Given the description of an element on the screen output the (x, y) to click on. 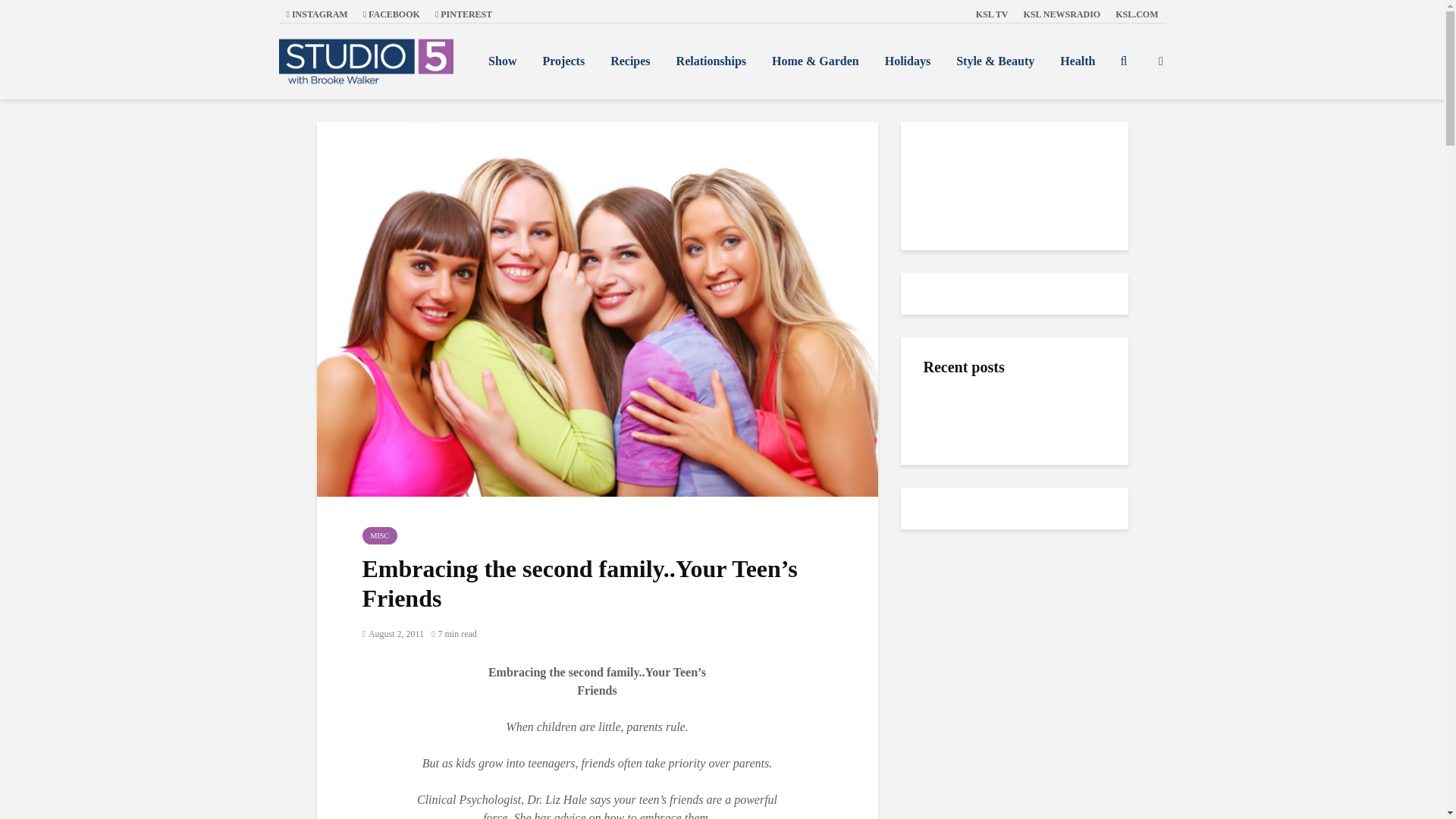
Recipes (629, 60)
MISC (379, 535)
KSL TV (992, 14)
Projects (563, 60)
PINTEREST (463, 14)
Relationships (711, 60)
Health (1077, 60)
Show (502, 60)
Holidays (907, 60)
KSL.COM (1137, 14)
